Given the description of an element on the screen output the (x, y) to click on. 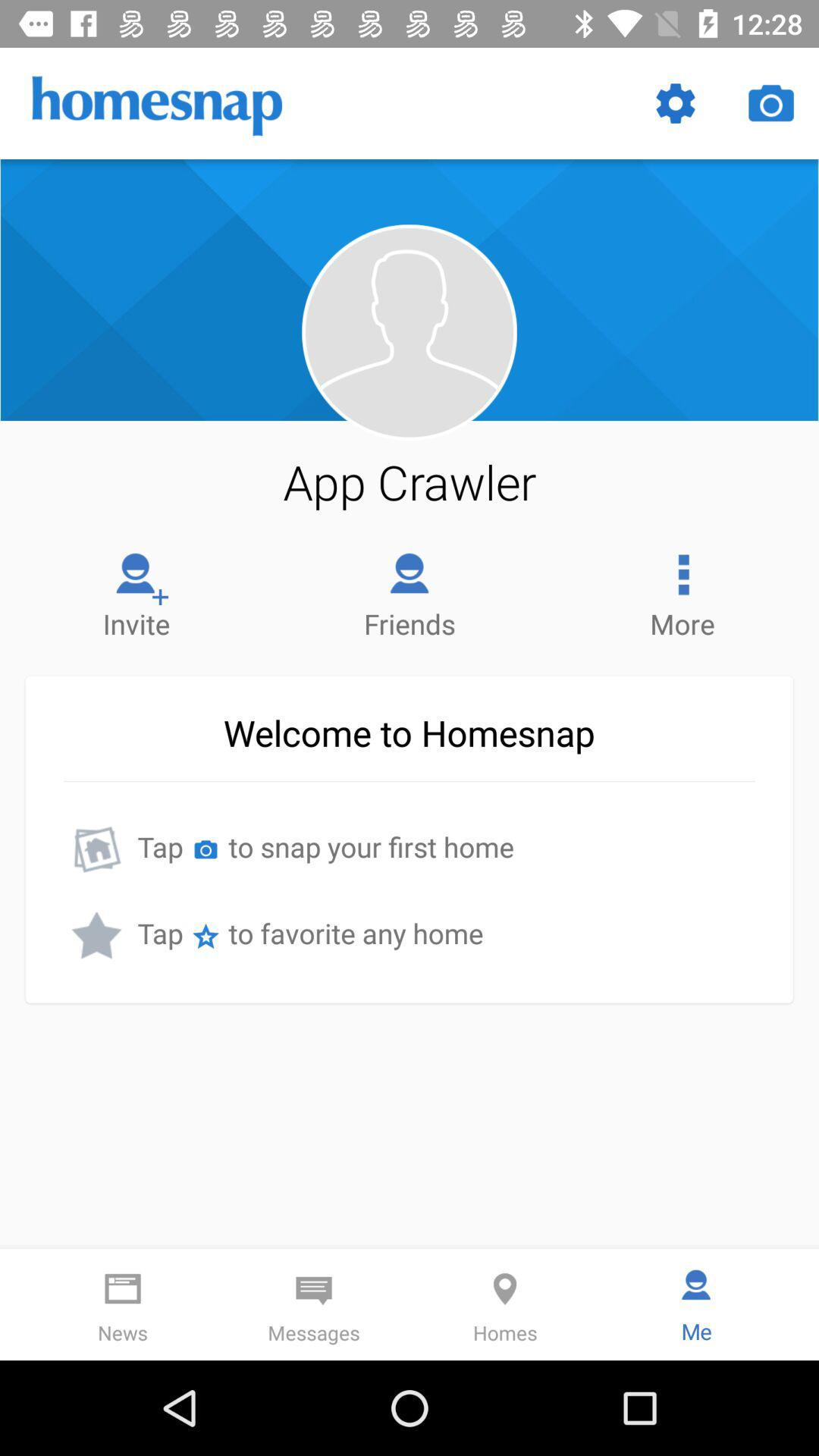
flip until the more icon (682, 591)
